Given the description of an element on the screen output the (x, y) to click on. 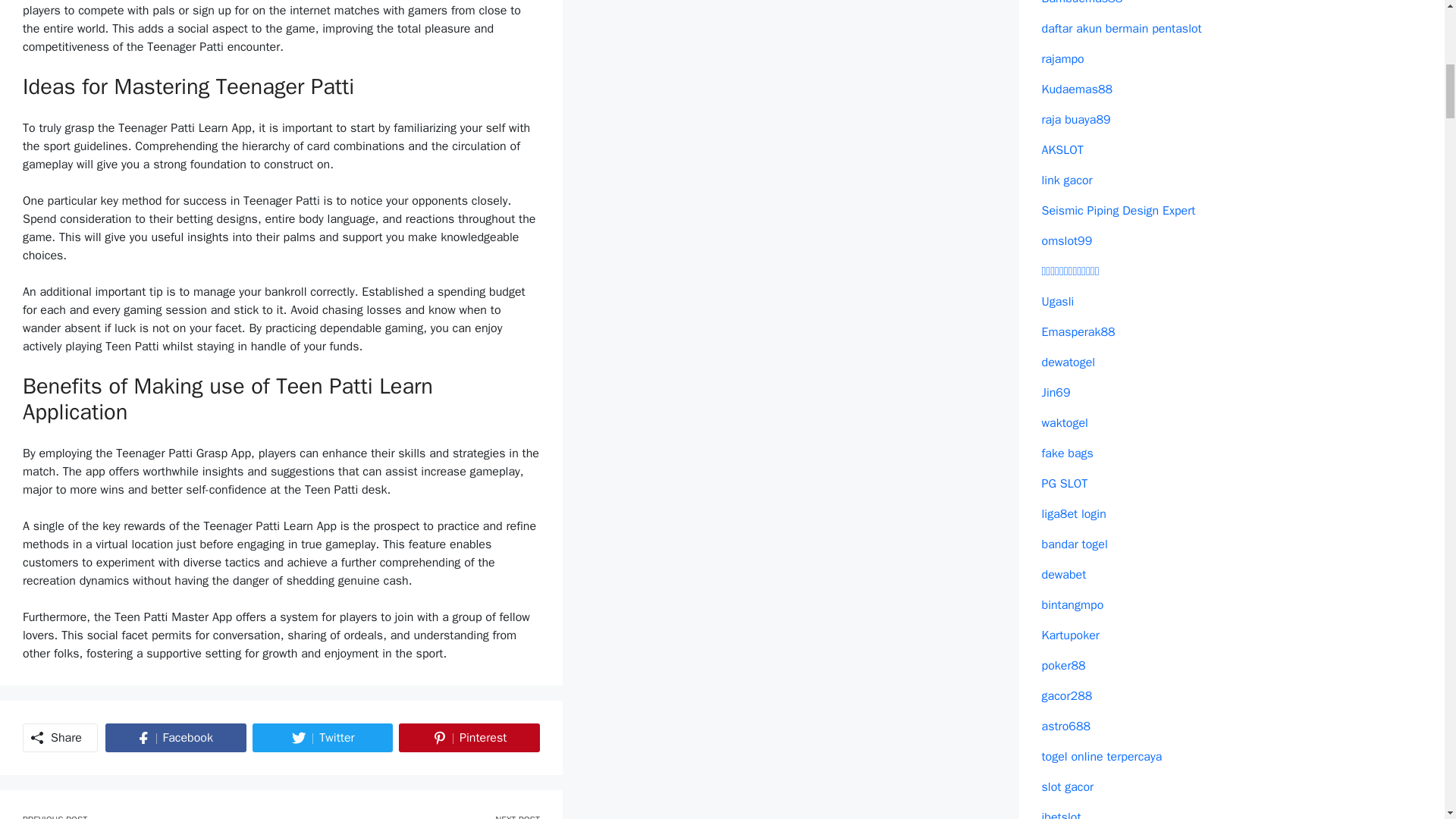
Share on Twitter (322, 737)
Share on Facebook (322, 737)
Pin on Pinterest (175, 737)
